Given the description of an element on the screen output the (x, y) to click on. 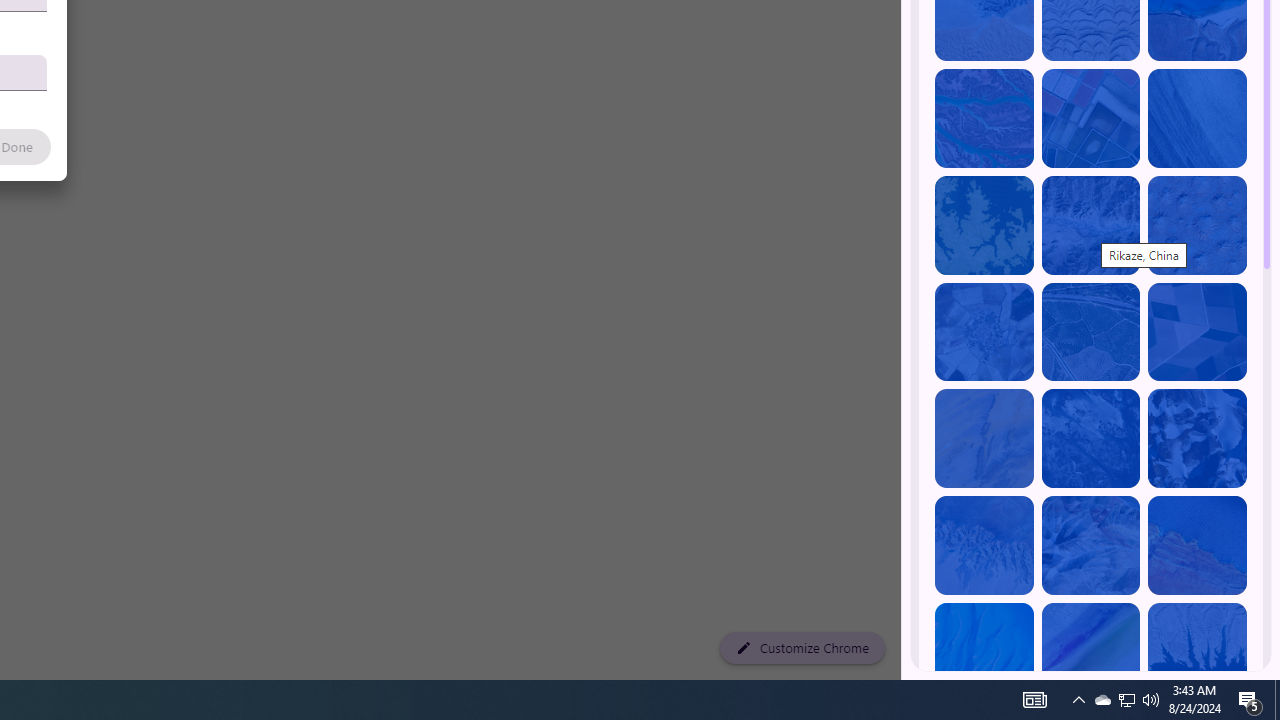
Libya (1197, 545)
Isla Cristina, Spain (1090, 332)
Qesm Al Wahat Ad Dakhlah, Egypt (984, 545)
Dekese, DR Congo (984, 225)
Antarctica (1197, 438)
Rikaze, China (1090, 225)
Iceland (1197, 119)
Atar, Mauritania (984, 438)
Ouargla, Algeria (1197, 225)
South Eleuthera, The Bahamas (984, 651)
Granville, France (1090, 438)
Hainan, China (1197, 651)
Pozoantiguo, Spain (984, 332)
Aigues-Mortes, France (1090, 119)
